Given the description of an element on the screen output the (x, y) to click on. 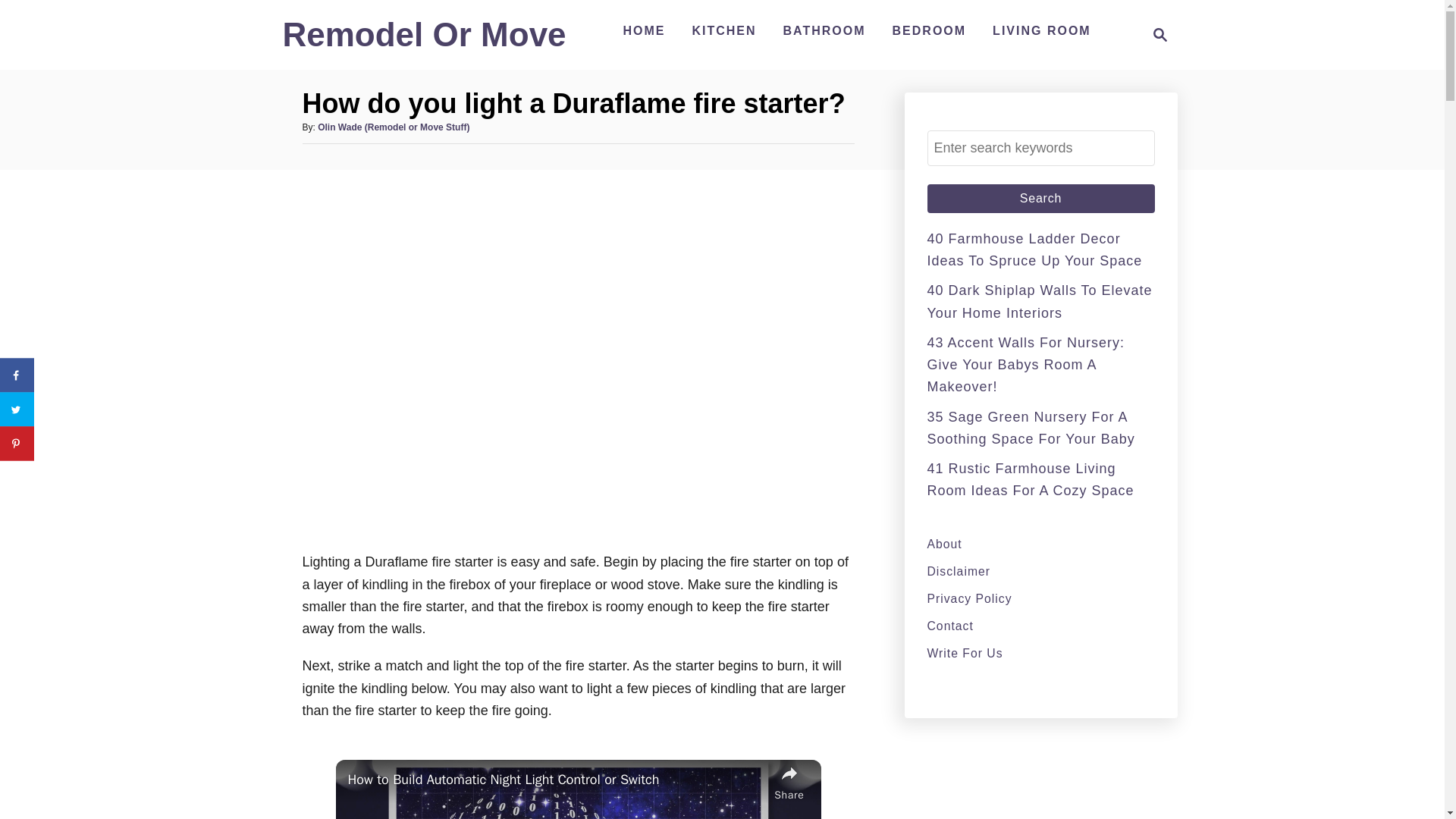
Contact (1040, 625)
Share on Facebook (16, 374)
40 Dark Shiplap Walls To Elevate Your Home Interiors (1038, 301)
HOME (643, 30)
41 Rustic Farmhouse Living Room Ideas For A Cozy Space (1030, 479)
35 Sage Green Nursery For A Soothing Space For Your Baby (1030, 427)
Search (1040, 198)
Search for: (1040, 148)
Search (1040, 198)
About (1040, 543)
Disclaimer (1040, 570)
LIVING ROOM (1042, 30)
BATHROOM (824, 30)
40 Farmhouse Ladder Decor Ideas To Spruce Up Your Space (1033, 249)
